Given the description of an element on the screen output the (x, y) to click on. 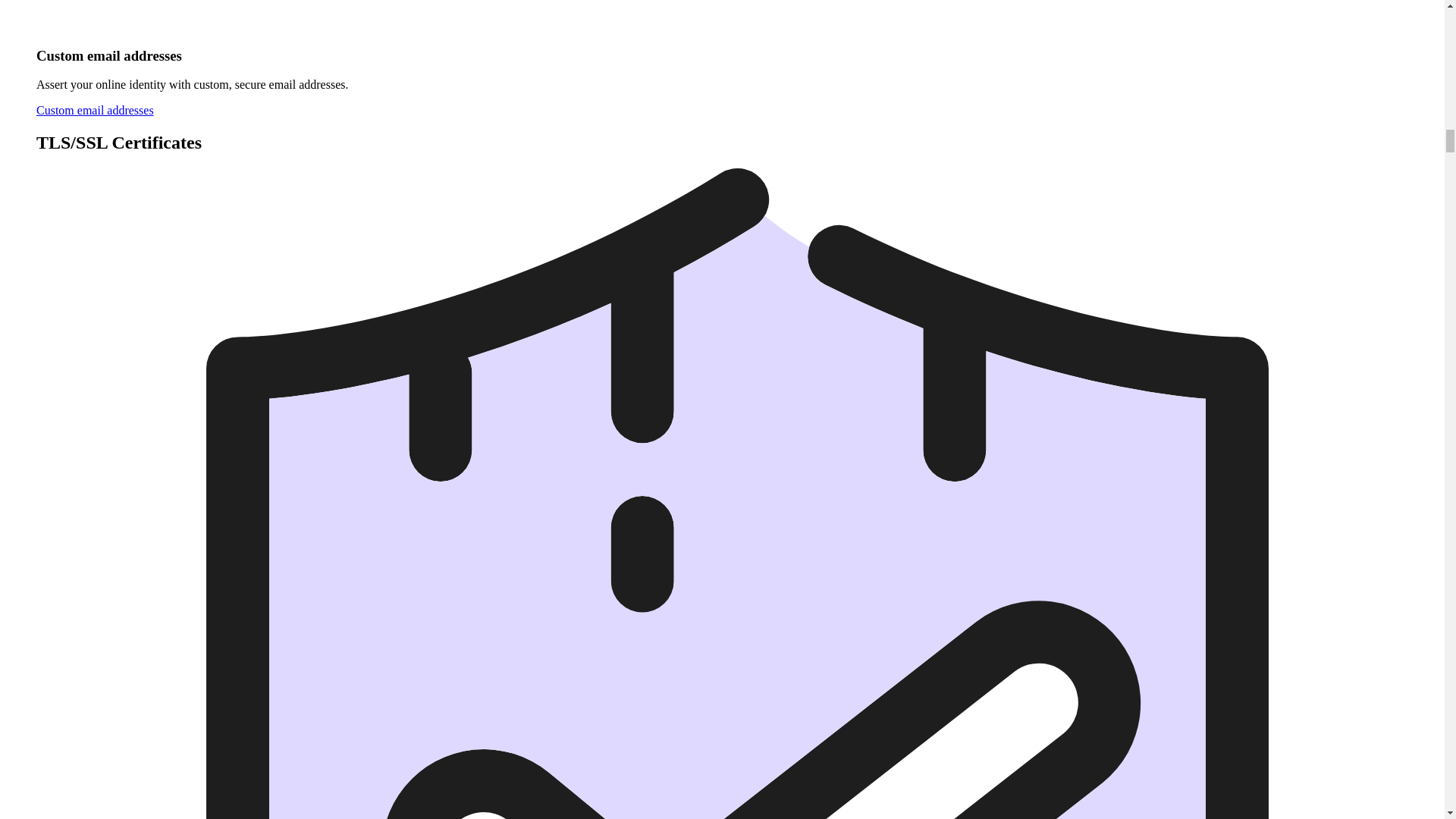
Custom email addresses (95, 110)
